Given the description of an element on the screen output the (x, y) to click on. 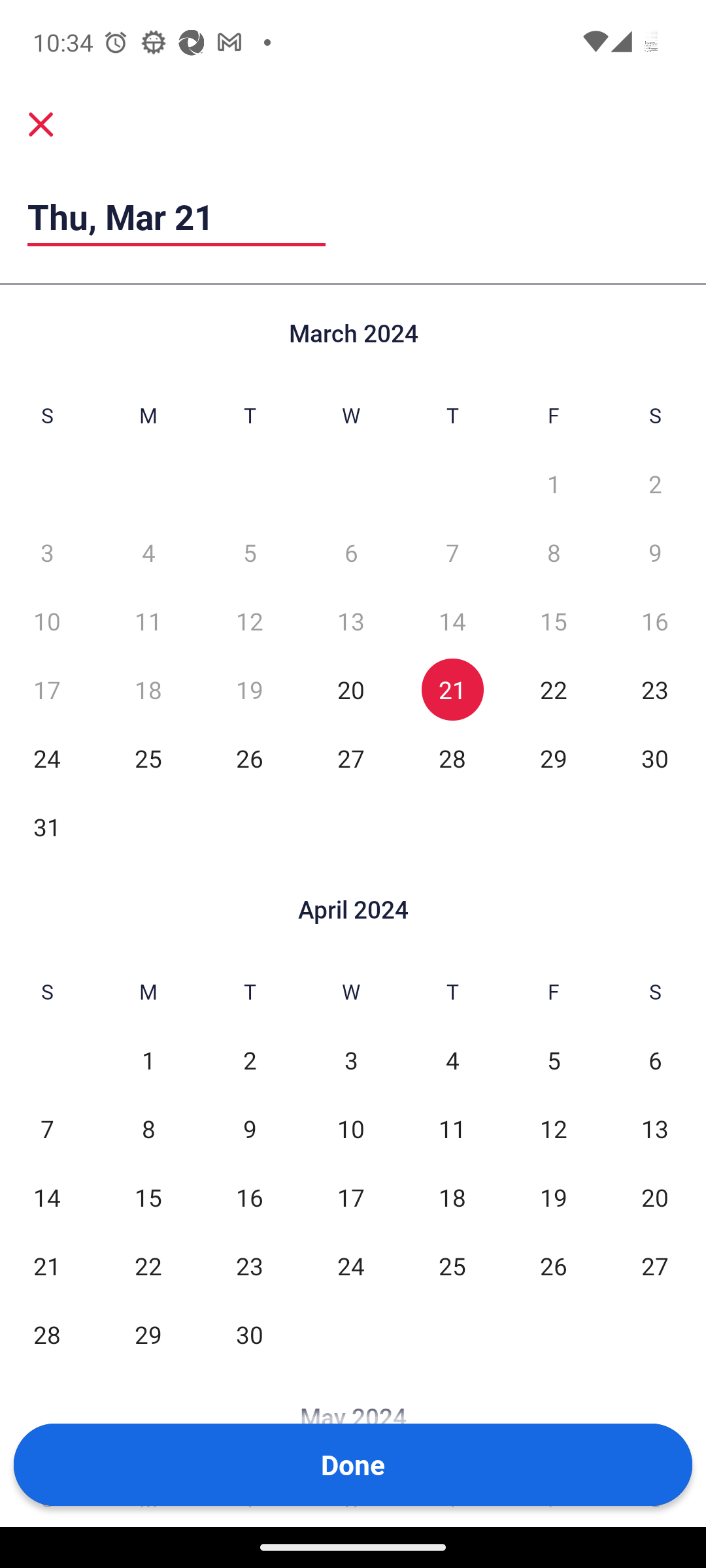
Cancel (41, 124)
Thu, Mar 21 (176, 215)
1 Fri, Mar 1, Not Selected (553, 483)
2 Sat, Mar 2, Not Selected (655, 483)
3 Sun, Mar 3, Not Selected (47, 551)
4 Mon, Mar 4, Not Selected (148, 551)
5 Tue, Mar 5, Not Selected (250, 551)
6 Wed, Mar 6, Not Selected (350, 551)
7 Thu, Mar 7, Not Selected (452, 551)
8 Fri, Mar 8, Not Selected (553, 551)
9 Sat, Mar 9, Not Selected (655, 551)
10 Sun, Mar 10, Not Selected (47, 620)
11 Mon, Mar 11, Not Selected (148, 620)
12 Tue, Mar 12, Not Selected (250, 620)
13 Wed, Mar 13, Not Selected (350, 620)
14 Thu, Mar 14, Not Selected (452, 620)
15 Fri, Mar 15, Not Selected (553, 620)
16 Sat, Mar 16, Not Selected (655, 620)
17 Sun, Mar 17, Not Selected (47, 689)
18 Mon, Mar 18, Not Selected (148, 689)
19 Tue, Mar 19, Not Selected (250, 689)
20 Wed, Mar 20, Not Selected (350, 689)
21 Thu, Mar 21, Selected (452, 689)
22 Fri, Mar 22, Not Selected (553, 689)
23 Sat, Mar 23, Not Selected (655, 689)
24 Sun, Mar 24, Not Selected (47, 757)
25 Mon, Mar 25, Not Selected (148, 757)
26 Tue, Mar 26, Not Selected (250, 757)
27 Wed, Mar 27, Not Selected (350, 757)
28 Thu, Mar 28, Not Selected (452, 757)
29 Fri, Mar 29, Not Selected (553, 757)
30 Sat, Mar 30, Not Selected (655, 757)
31 Sun, Mar 31, Not Selected (47, 825)
1 Mon, Apr 1, Not Selected (148, 1059)
2 Tue, Apr 2, Not Selected (250, 1059)
3 Wed, Apr 3, Not Selected (350, 1059)
4 Thu, Apr 4, Not Selected (452, 1059)
5 Fri, Apr 5, Not Selected (553, 1059)
6 Sat, Apr 6, Not Selected (655, 1059)
7 Sun, Apr 7, Not Selected (47, 1128)
8 Mon, Apr 8, Not Selected (148, 1128)
9 Tue, Apr 9, Not Selected (250, 1128)
10 Wed, Apr 10, Not Selected (350, 1128)
11 Thu, Apr 11, Not Selected (452, 1128)
12 Fri, Apr 12, Not Selected (553, 1128)
13 Sat, Apr 13, Not Selected (655, 1128)
14 Sun, Apr 14, Not Selected (47, 1196)
15 Mon, Apr 15, Not Selected (148, 1196)
16 Tue, Apr 16, Not Selected (250, 1196)
17 Wed, Apr 17, Not Selected (350, 1196)
18 Thu, Apr 18, Not Selected (452, 1196)
19 Fri, Apr 19, Not Selected (553, 1196)
20 Sat, Apr 20, Not Selected (655, 1196)
21 Sun, Apr 21, Not Selected (47, 1264)
22 Mon, Apr 22, Not Selected (148, 1264)
23 Tue, Apr 23, Not Selected (250, 1264)
24 Wed, Apr 24, Not Selected (350, 1264)
25 Thu, Apr 25, Not Selected (452, 1264)
26 Fri, Apr 26, Not Selected (553, 1264)
27 Sat, Apr 27, Not Selected (655, 1264)
28 Sun, Apr 28, Not Selected (47, 1333)
29 Mon, Apr 29, Not Selected (148, 1333)
30 Tue, Apr 30, Not Selected (250, 1333)
Done Button Done (352, 1464)
